Given the description of an element on the screen output the (x, y) to click on. 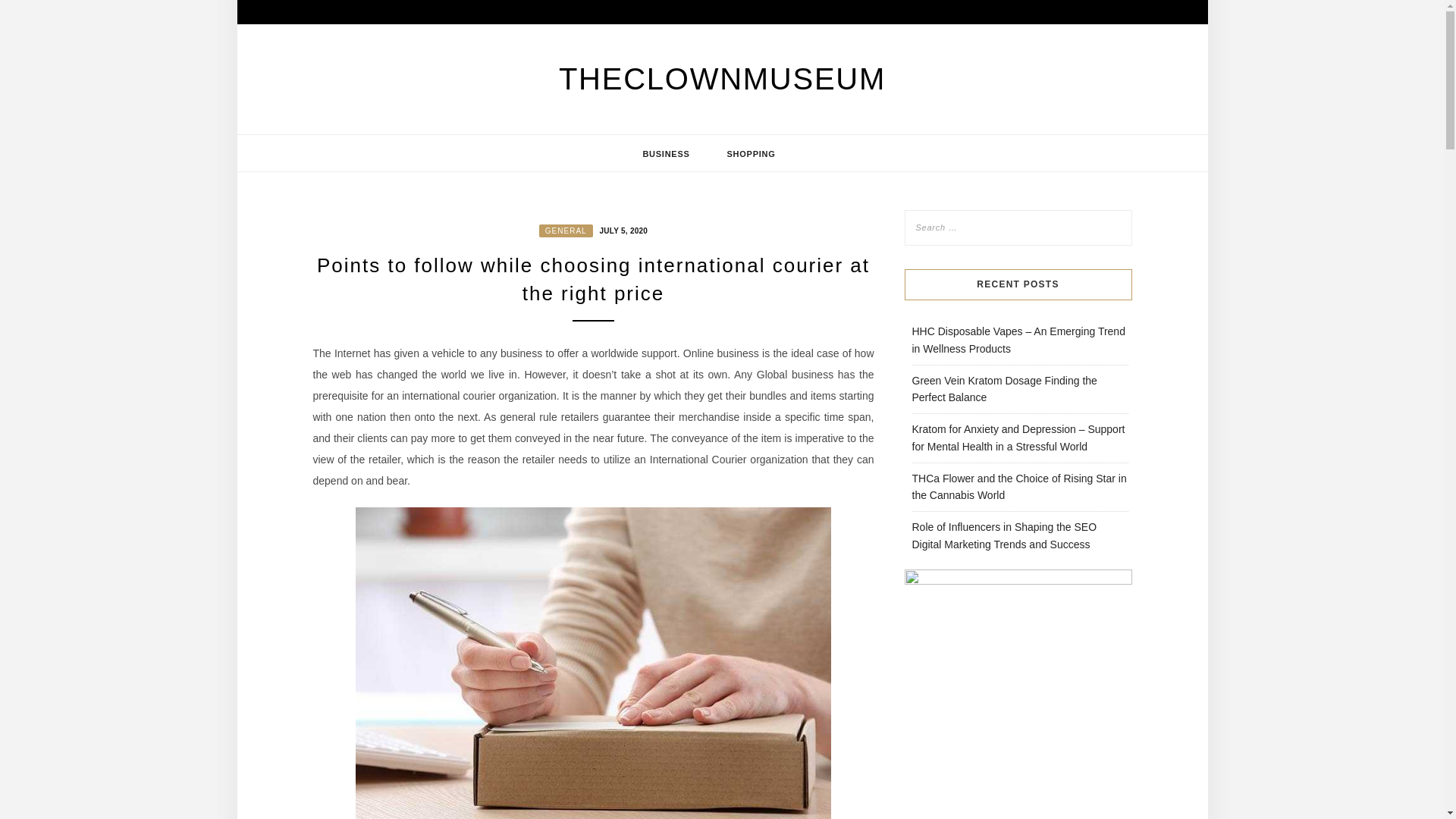
JULY 5, 2020 (621, 229)
Green Vein Kratom Dosage Finding the Perfect Balance (1003, 389)
SHOPPING (750, 153)
THECLOWNMUSEUM (722, 78)
GENERAL (565, 230)
Search (28, 11)
BUSINESS (666, 153)
